Given the description of an element on the screen output the (x, y) to click on. 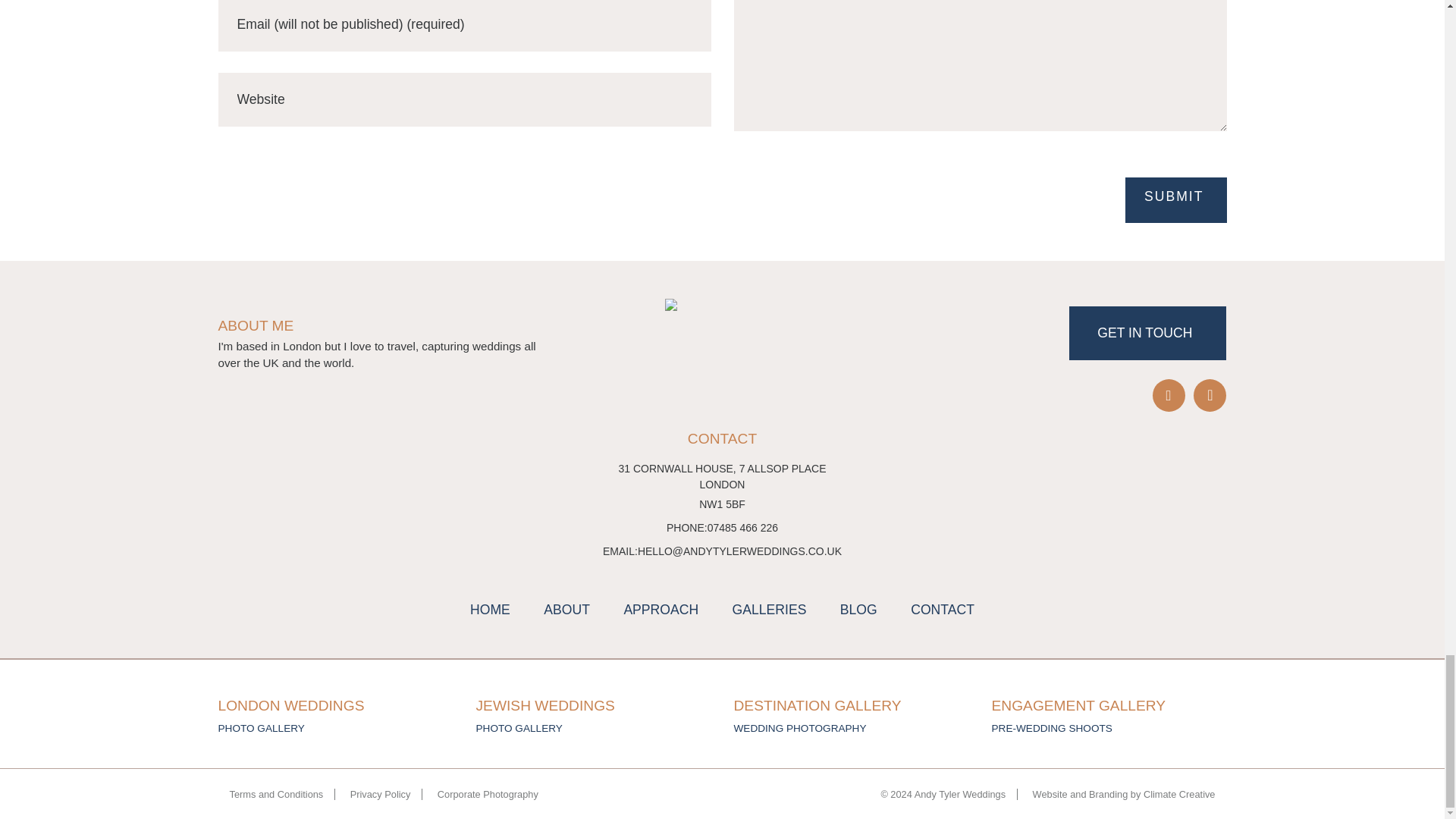
Get In Touch (1146, 333)
SUBMIT (1175, 199)
ABOUT ME (378, 325)
07485 466 226 (742, 527)
GET IN TOUCH (1146, 333)
